Given the description of an element on the screen output the (x, y) to click on. 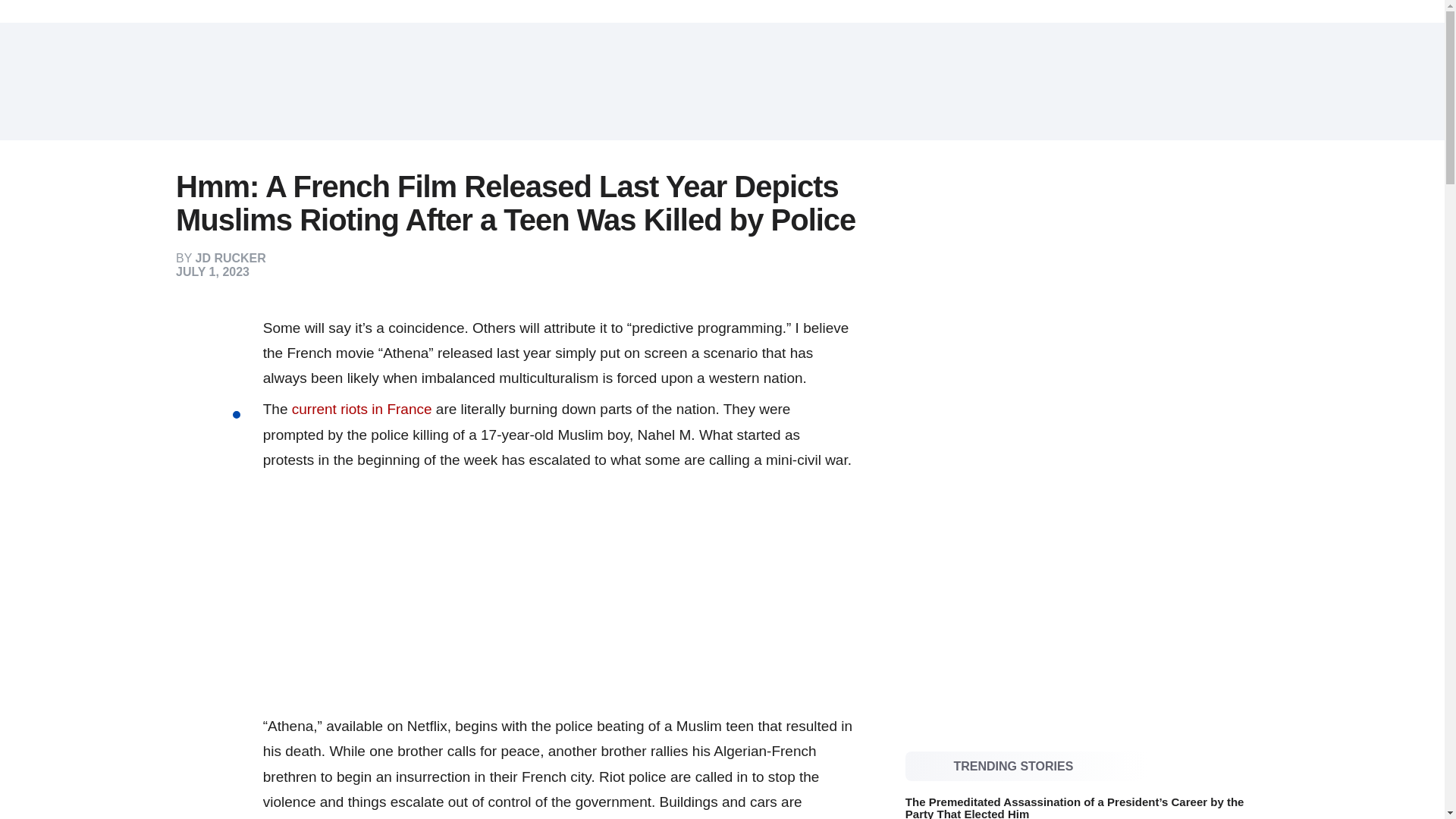
Posts by JD Rucker (230, 257)
Search (1252, 81)
Share (226, 391)
current riots in France (362, 408)
Share (226, 330)
Print (226, 452)
Tweet (226, 361)
Comment (226, 421)
JD RUCKER (230, 257)
